Given the description of an element on the screen output the (x, y) to click on. 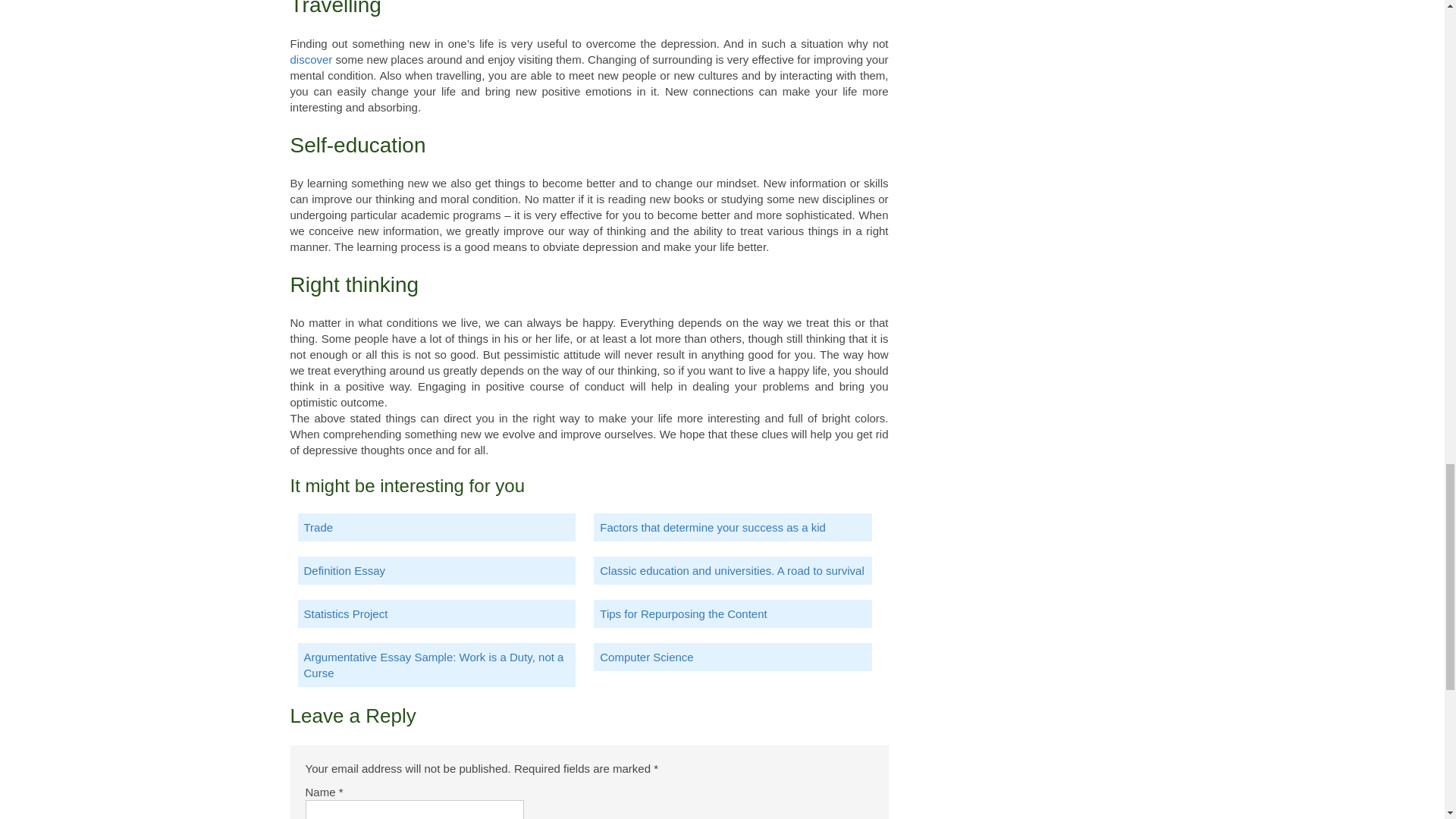
Factors that determine your success as a kid (733, 527)
Tips for Repurposing the Content (733, 613)
discover (310, 59)
Statistics Project (436, 613)
discover (310, 59)
Trade (436, 527)
Argumentative Essay Sample: Work is a Duty, not a Curse (436, 664)
Computer Science (733, 656)
Classic education and universities. A road to survival (733, 570)
Definition Essay (436, 570)
